Given the description of an element on the screen output the (x, y) to click on. 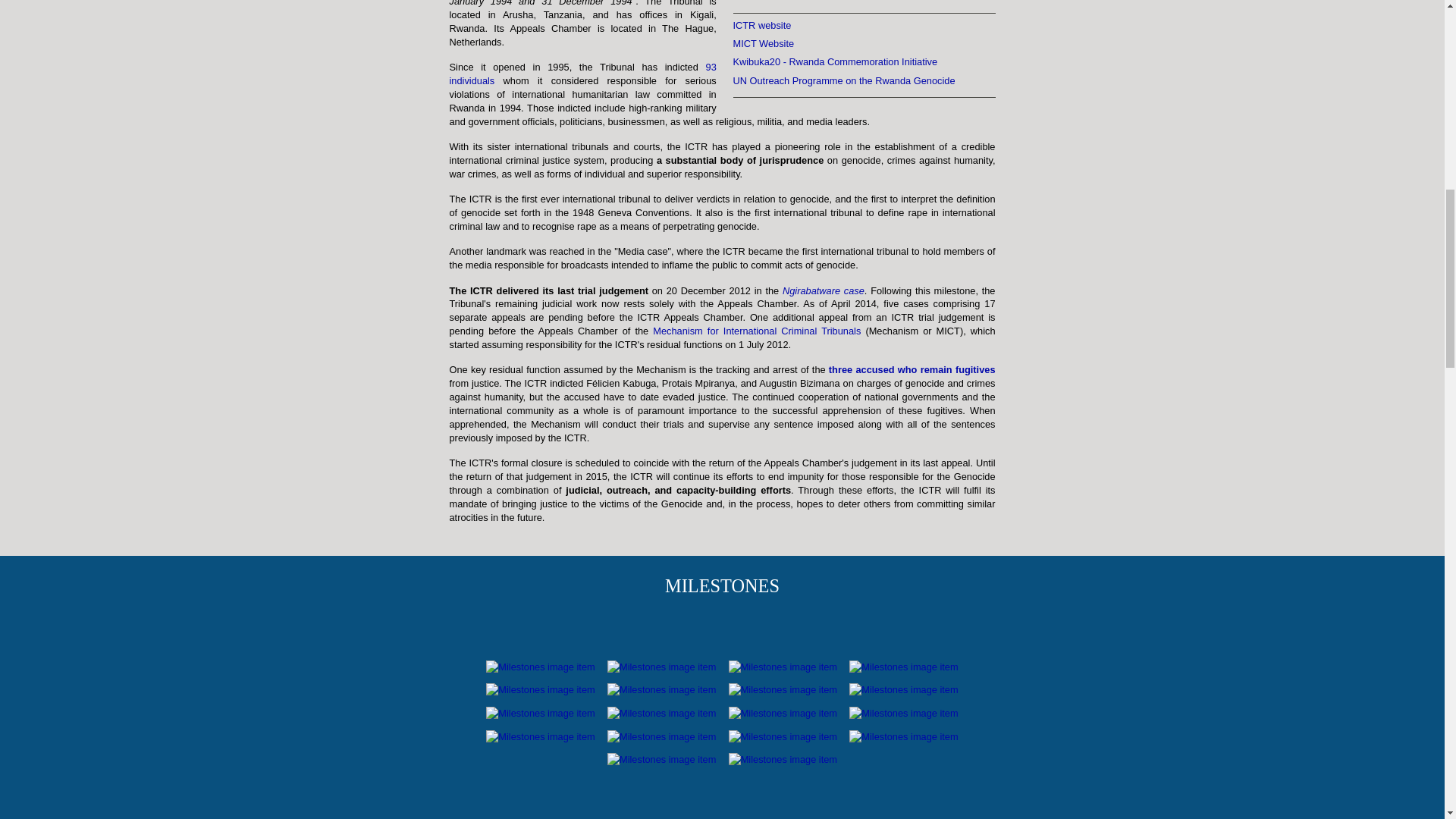
ICTR website (761, 25)
UN Outreach Programme on the Rwanda Genocide (843, 80)
Mechanism for International Criminal Tribunals (756, 330)
16 June 2006 - Genocide Beyond Dispute (783, 713)
25 September 2000 - ICTR Opens Information Centre in Kigali (903, 689)
23 May 2011 - Evidence Preservation Hearings Commence (541, 736)
28 August 2003 - ICTR Completion Strategy (662, 713)
93 individuals (582, 73)
18 July 1997 - Arrest of Seven Suspects in Nairobi (541, 689)
8 November 1994 - The United Nations Establishes the ICTR (541, 666)
Kwibuka20 - Rwanda Commemoration Initiative (834, 61)
23 October 2000 - Beginning of 'The Media Case' (541, 713)
18 December 2011 - First Case Referral to Rwanda (662, 736)
1 May 1998 - First Guilty Plea for Genocide (662, 689)
